Given the description of an element on the screen output the (x, y) to click on. 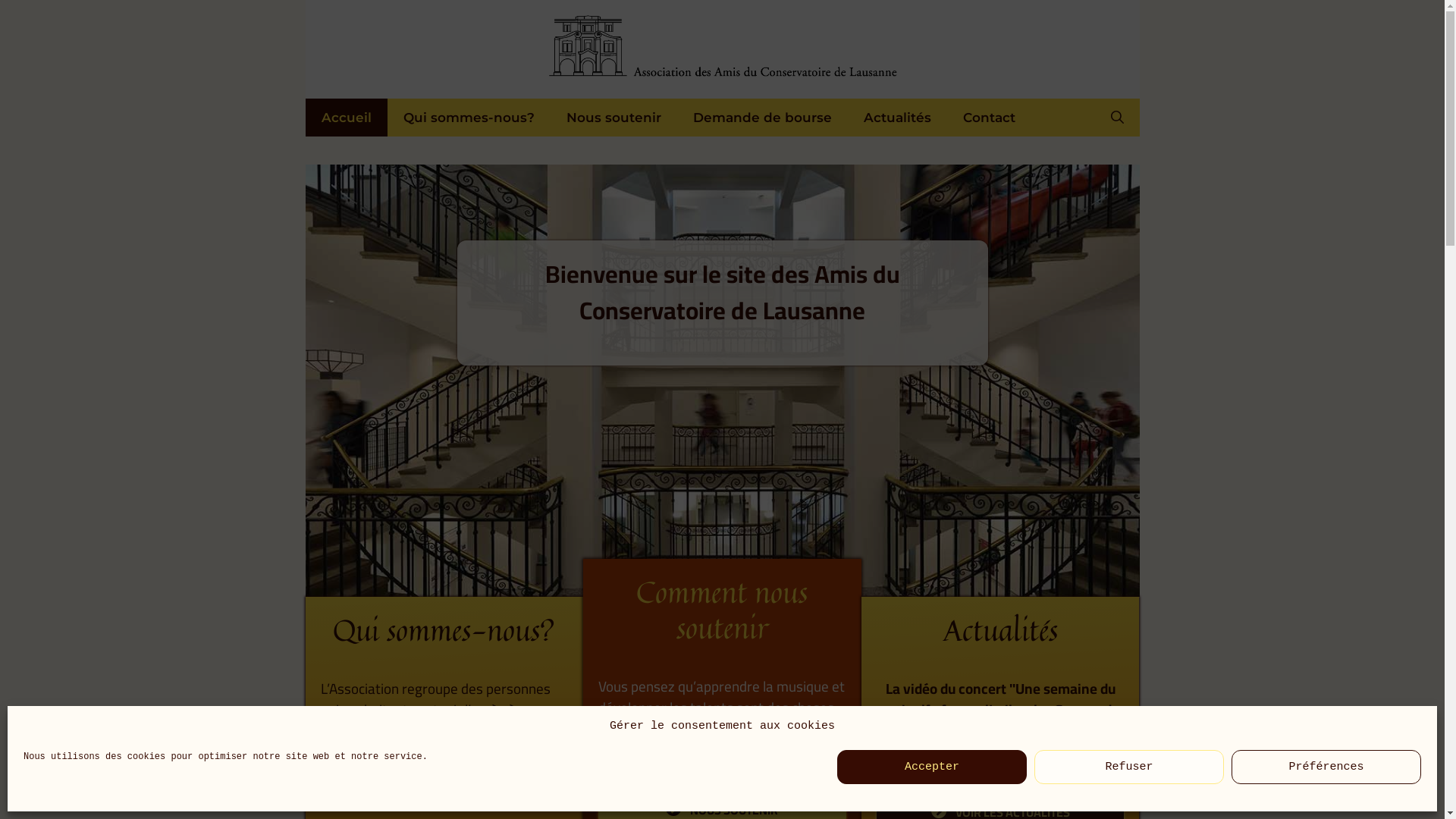
Refuser Element type: text (1128, 766)
Nous soutenir Element type: text (613, 117)
Contact Element type: text (988, 117)
Accueil Element type: text (345, 117)
Accepter Element type: text (931, 766)
Demande de bourse Element type: text (761, 117)
Qui sommes-nous? Element type: text (467, 117)
